Given the description of an element on the screen output the (x, y) to click on. 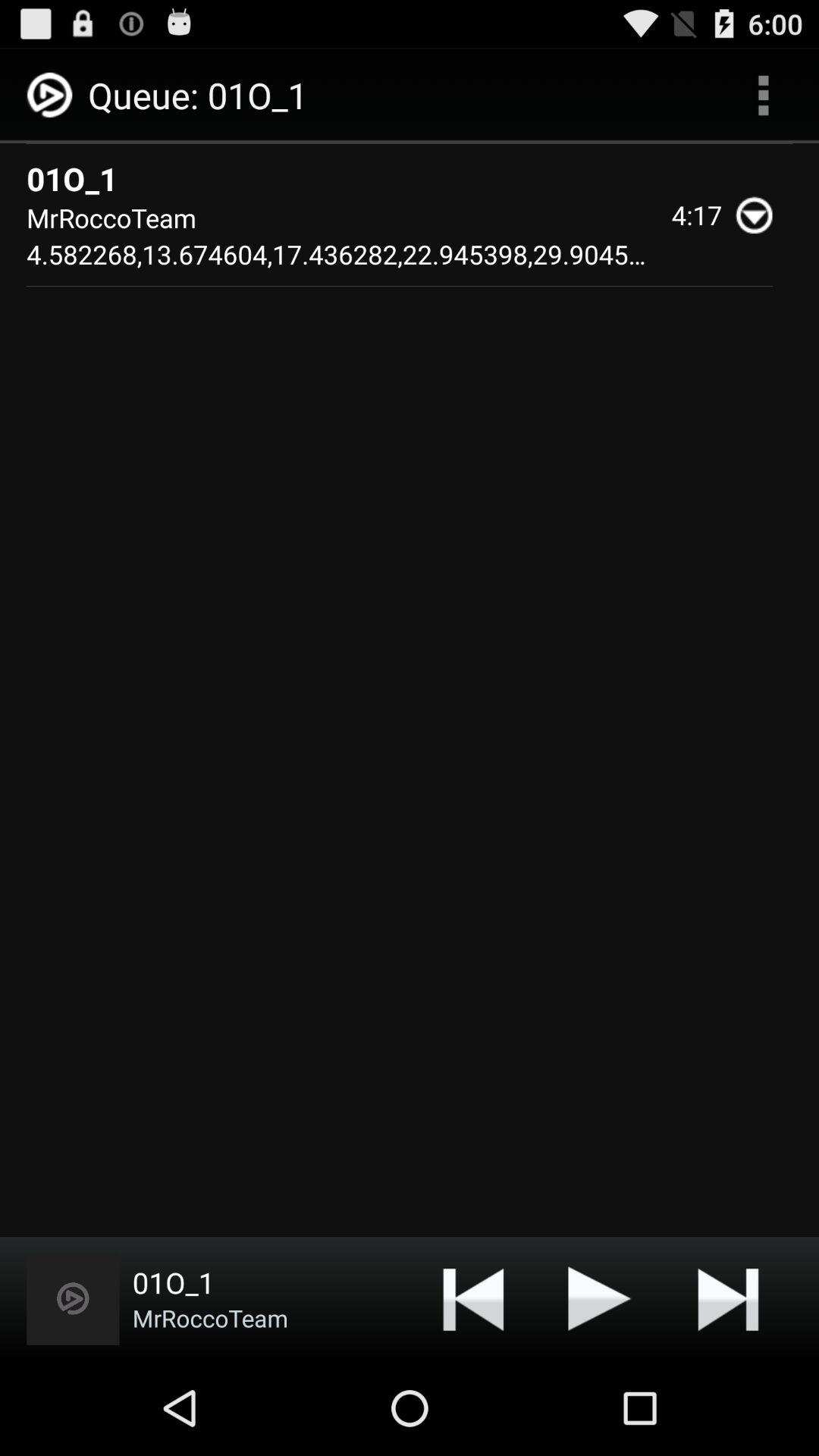
select icon to the left of 01o_1 icon (72, 1298)
